Given the description of an element on the screen output the (x, y) to click on. 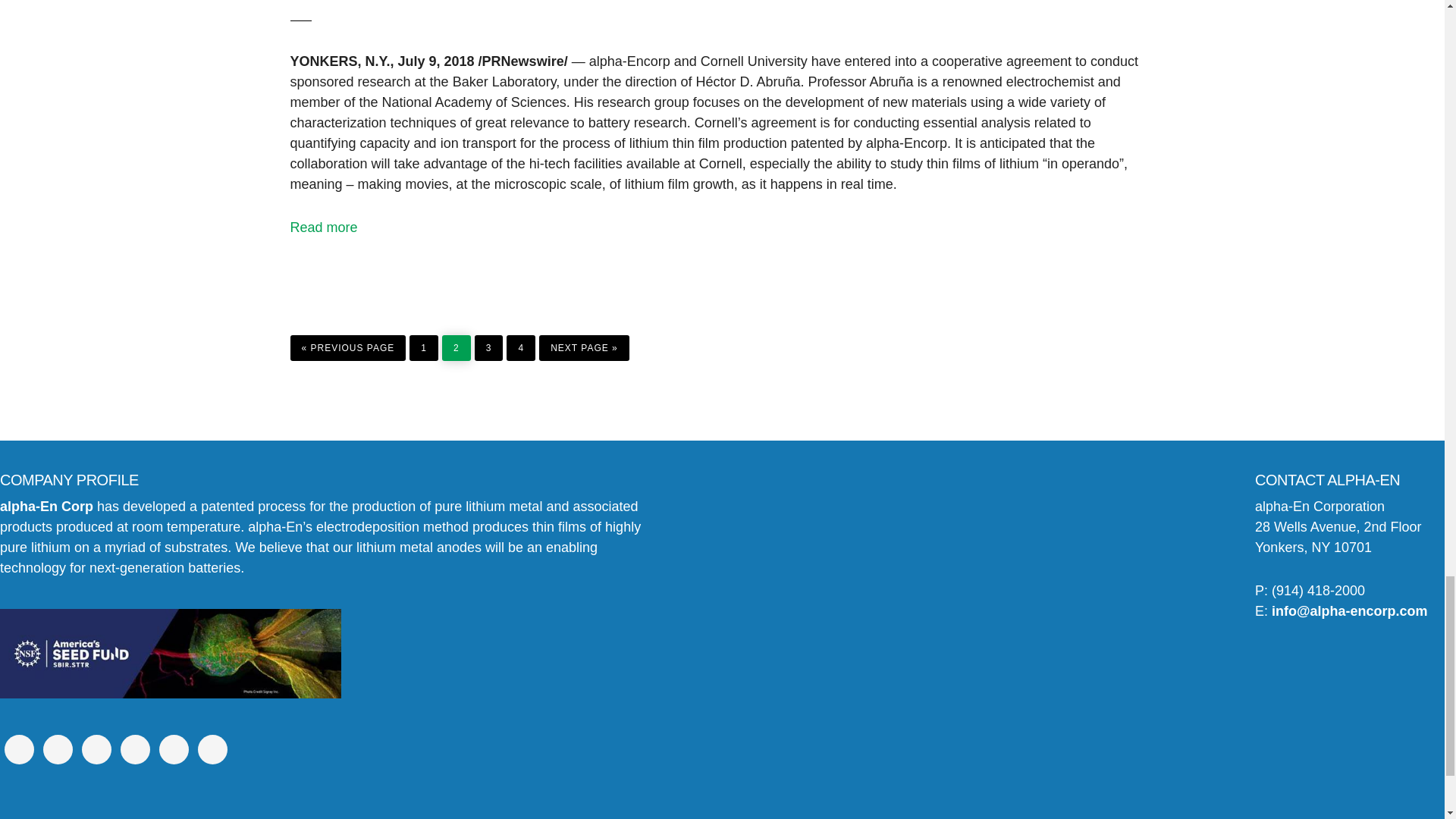
Read more (322, 227)
